Given the description of an element on the screen output the (x, y) to click on. 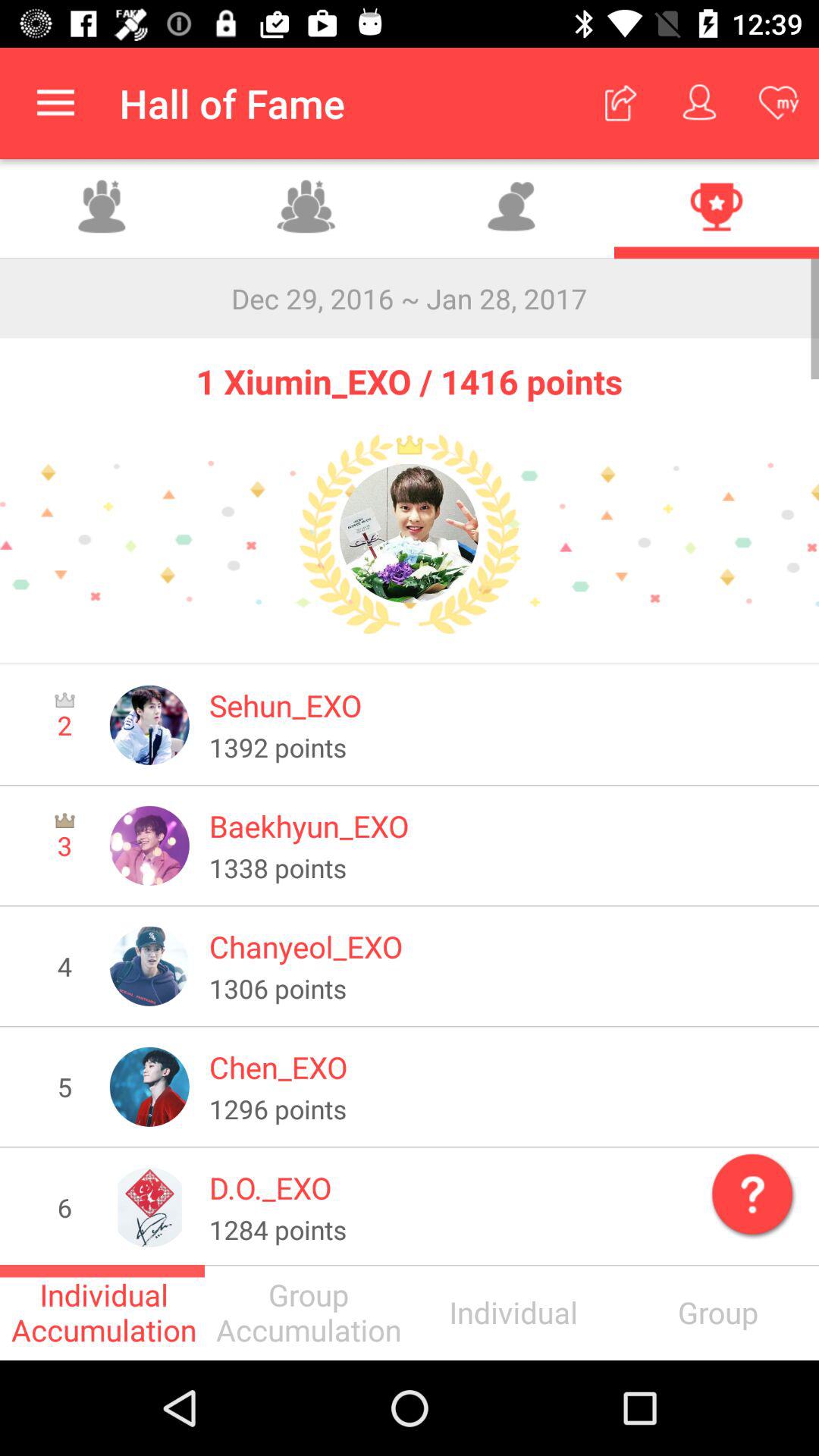
idol rankings (716, 208)
